Given the description of an element on the screen output the (x, y) to click on. 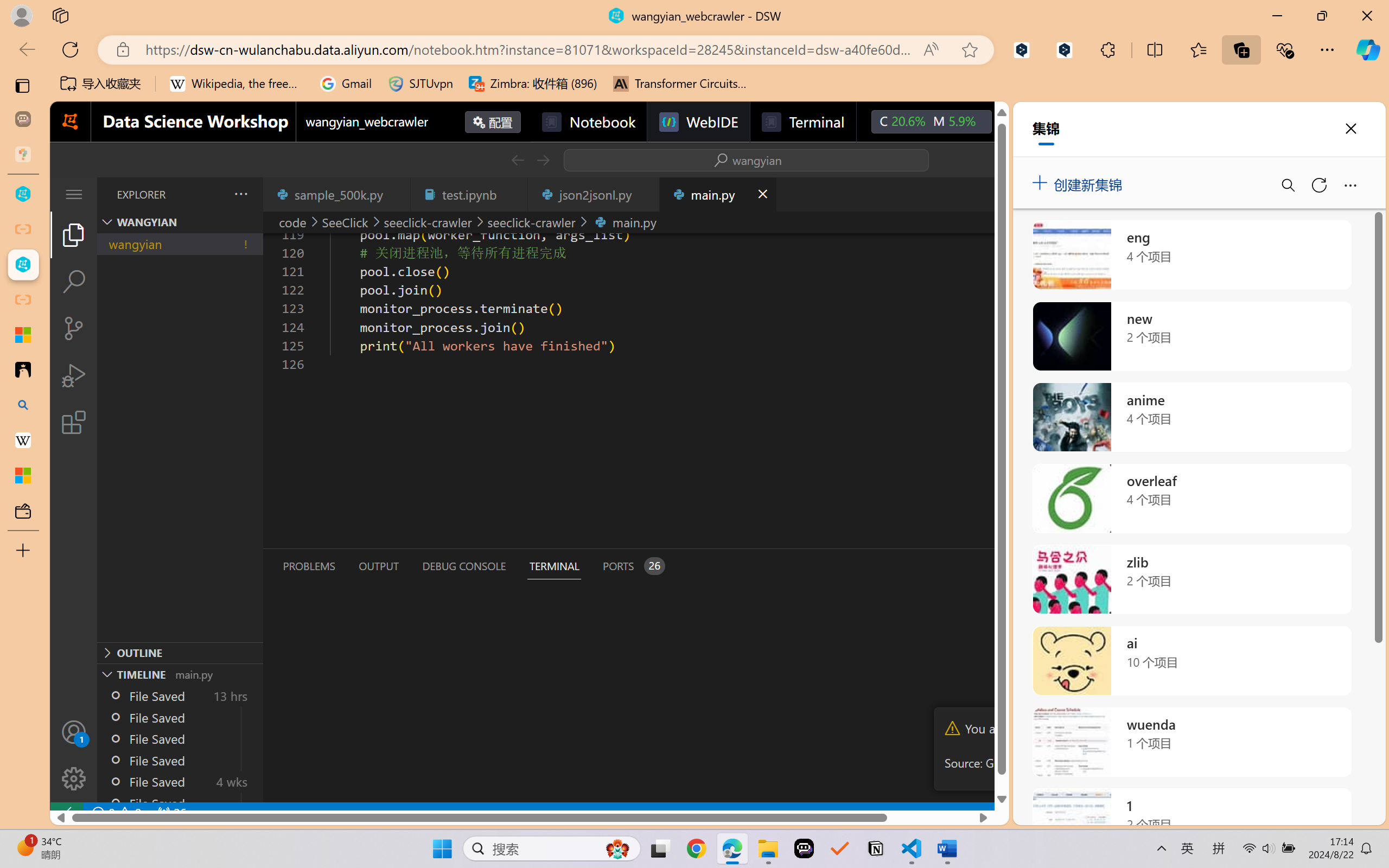
json2jsonl.py (593, 194)
Problems (Ctrl+Shift+M) (308, 565)
Application Menu (73, 194)
Timeline Section (179, 673)
Adjust indents and spacing - Microsoft Support (22, 334)
Output (Ctrl+Shift+U) (377, 565)
Extensions (Ctrl+Shift+X) (73, 422)
wangyian_webcrawler - DSW (22, 264)
